Given the description of an element on the screen output the (x, y) to click on. 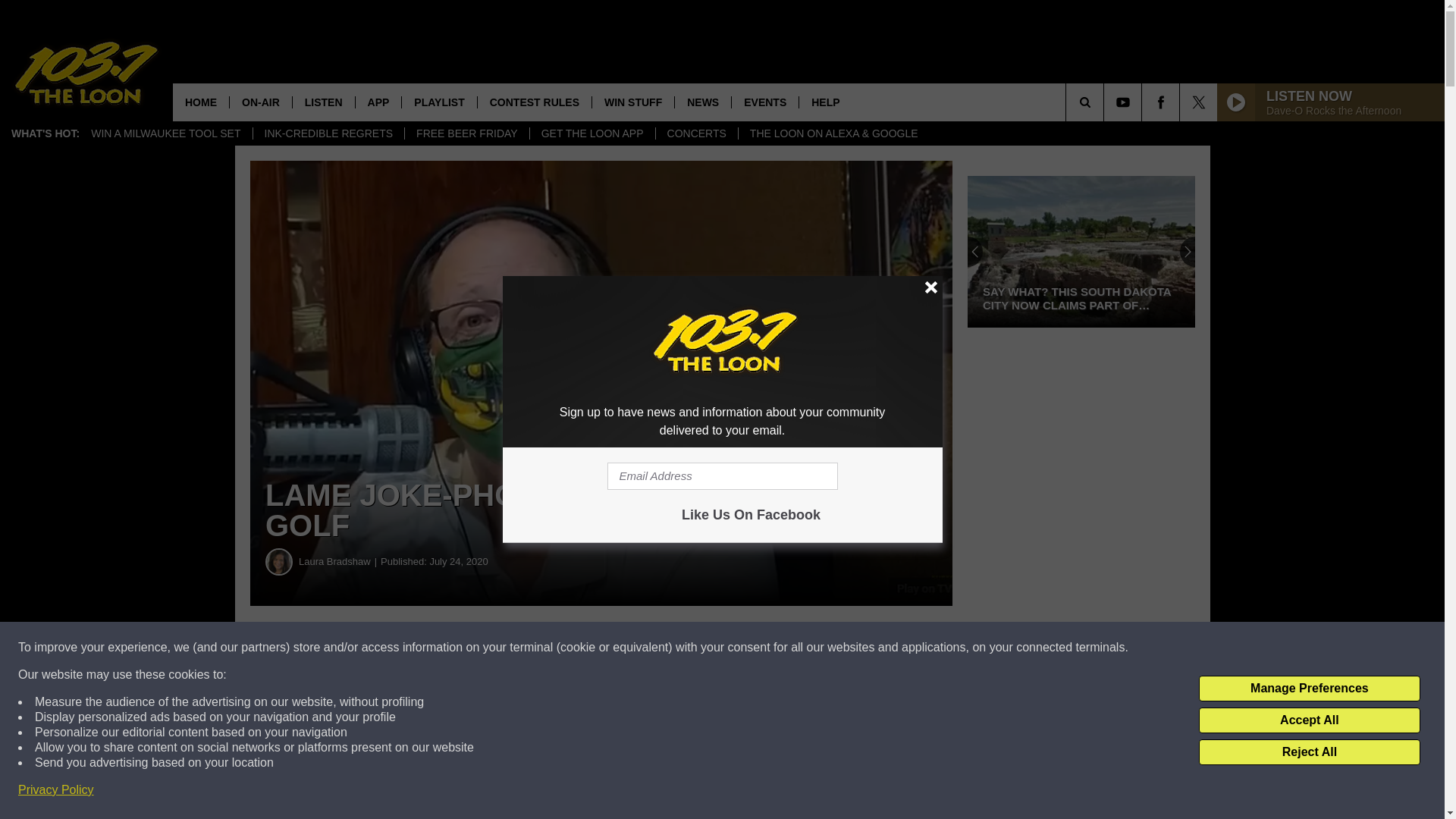
CONCERTS (696, 133)
SEARCH (1106, 102)
Accept All (1309, 720)
GET THE LOON APP (592, 133)
CONTEST RULES (534, 102)
Reject All (1309, 751)
HOME (200, 102)
Privacy Policy (55, 789)
INK-CREDIBLE REGRETS (327, 133)
WIN A MILWAUKEE TOOL SET (165, 133)
APP (378, 102)
Email Address (722, 475)
FREE BEER FRIDAY (466, 133)
Manage Preferences (1309, 688)
Share on Facebook (460, 647)
